Given the description of an element on the screen output the (x, y) to click on. 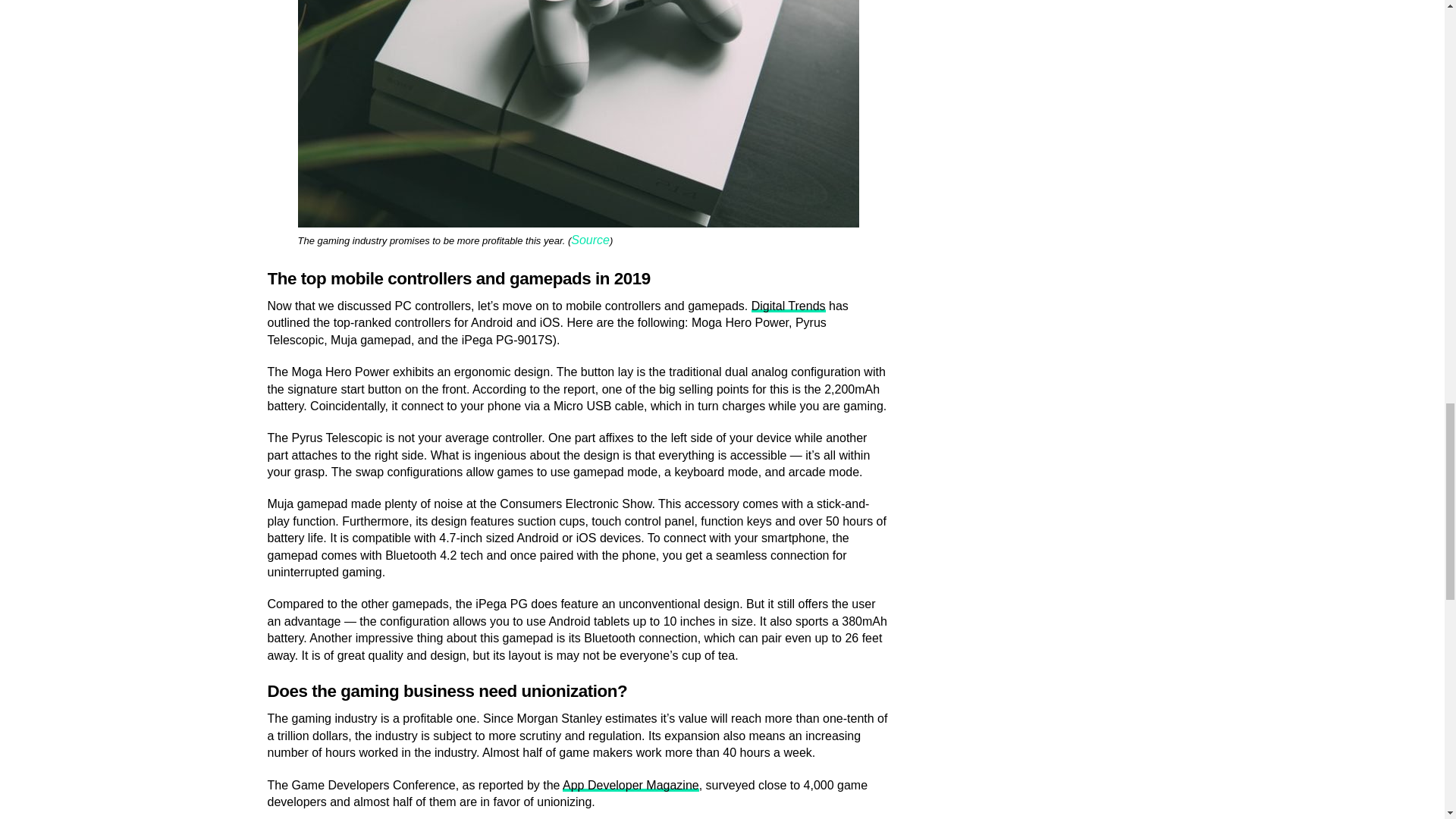
App Developer Magazine (630, 784)
Source (590, 239)
Digital Trends (788, 305)
